Given the description of an element on the screen output the (x, y) to click on. 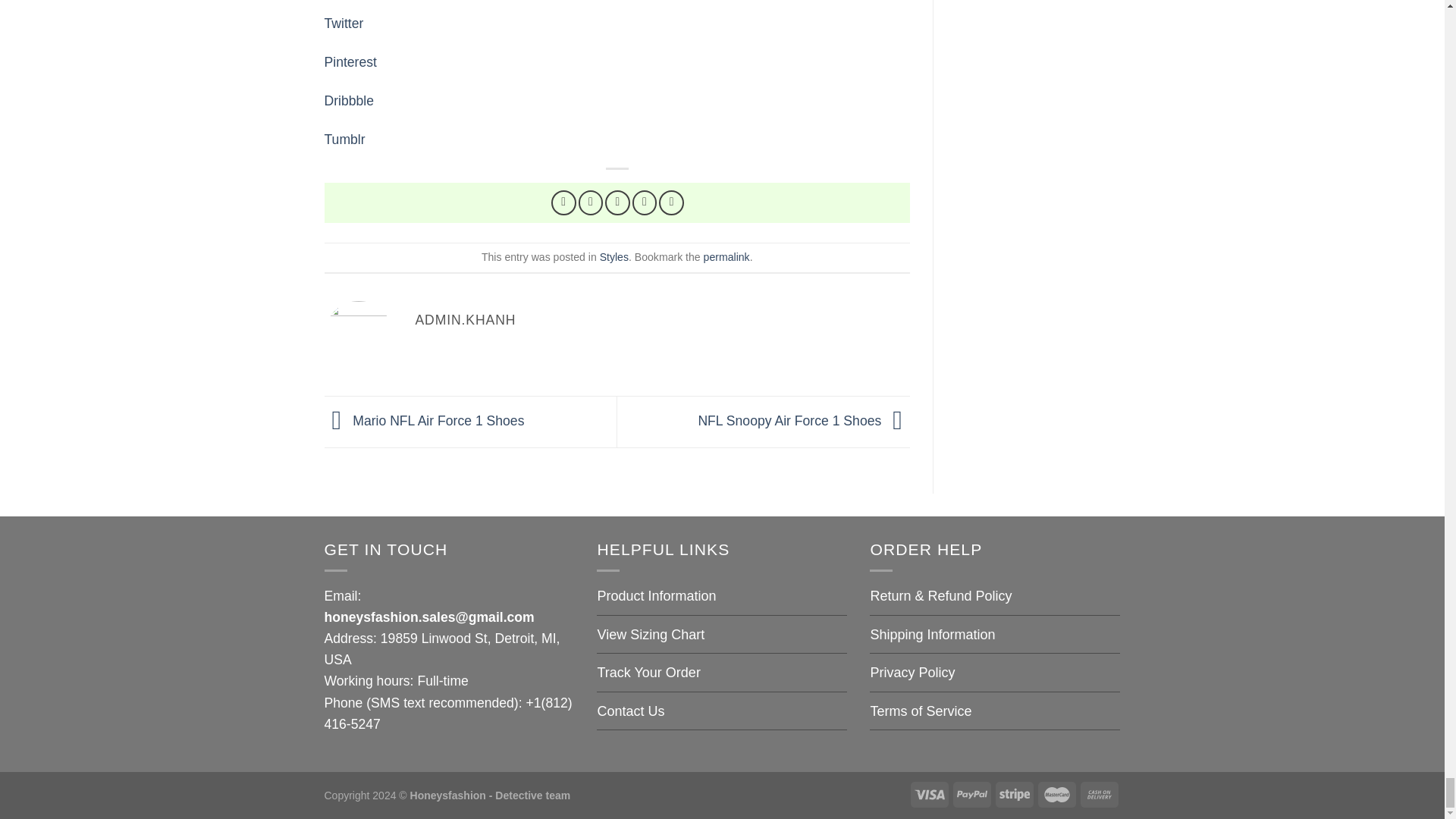
Email to a Friend (617, 202)
Pin on Pinterest (644, 202)
Share on Facebook (563, 202)
Share on Twitter (591, 202)
Share on LinkedIn (671, 202)
